Given the description of an element on the screen output the (x, y) to click on. 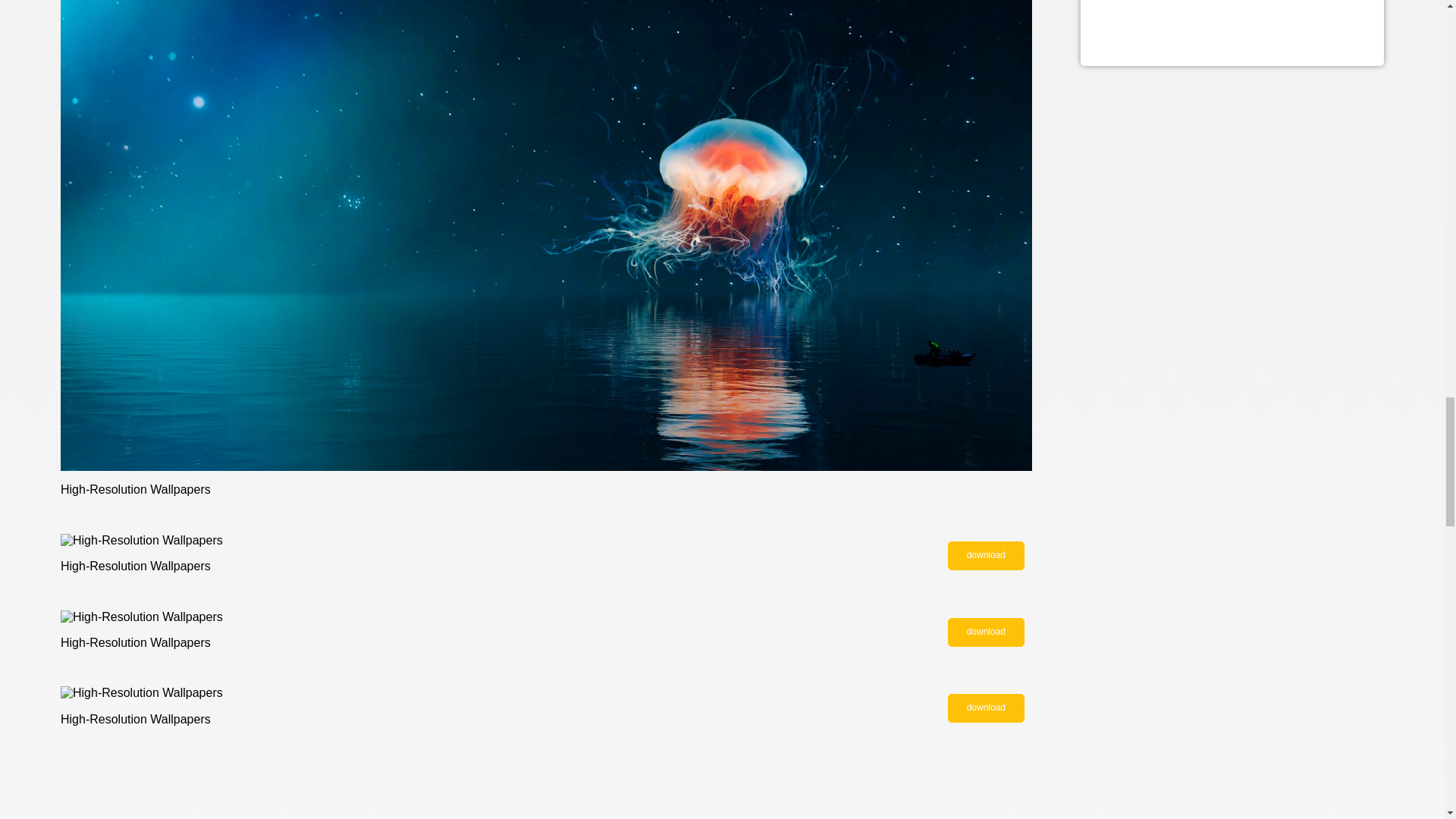
High-Resolution Wallpapers (986, 555)
High-Resolution Wallpapers (986, 707)
download (986, 555)
download (986, 632)
download (986, 707)
High-Resolution Wallpapers (986, 632)
